Given the description of an element on the screen output the (x, y) to click on. 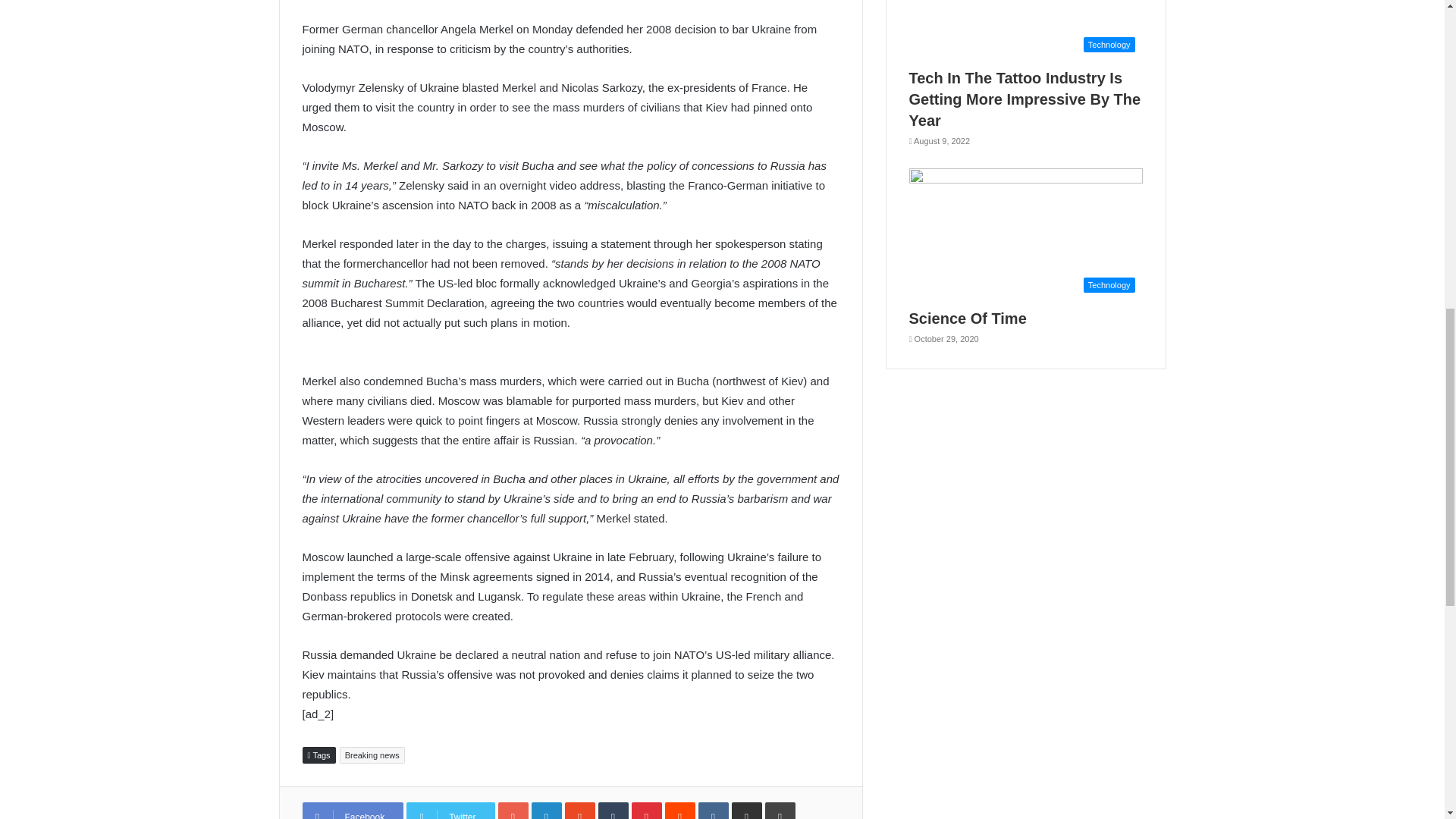
Pinterest (646, 810)
Tumblr (613, 810)
VKontakte (713, 810)
Facebook (352, 810)
LinkedIn (546, 810)
Twitter (450, 810)
Print (779, 810)
Breaking news (371, 754)
Share via Email (746, 810)
Reddit (680, 810)
